Given the description of an element on the screen output the (x, y) to click on. 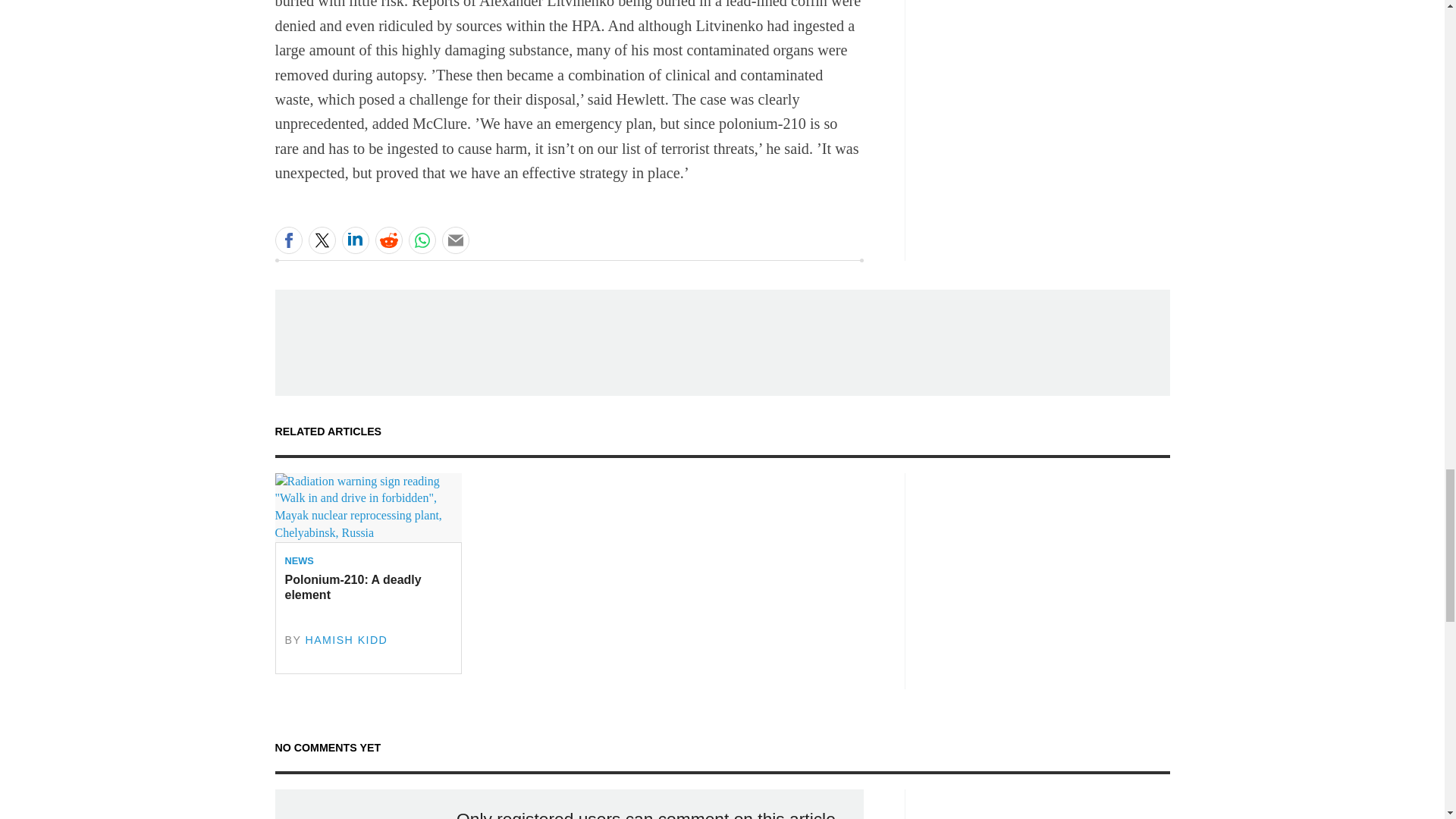
Share this on WhatsApp (421, 239)
Share this by email (454, 239)
Share this on Facebook (288, 239)
Share this on Reddit (387, 239)
Share this on LinkedIn (354, 239)
